Given the description of an element on the screen output the (x, y) to click on. 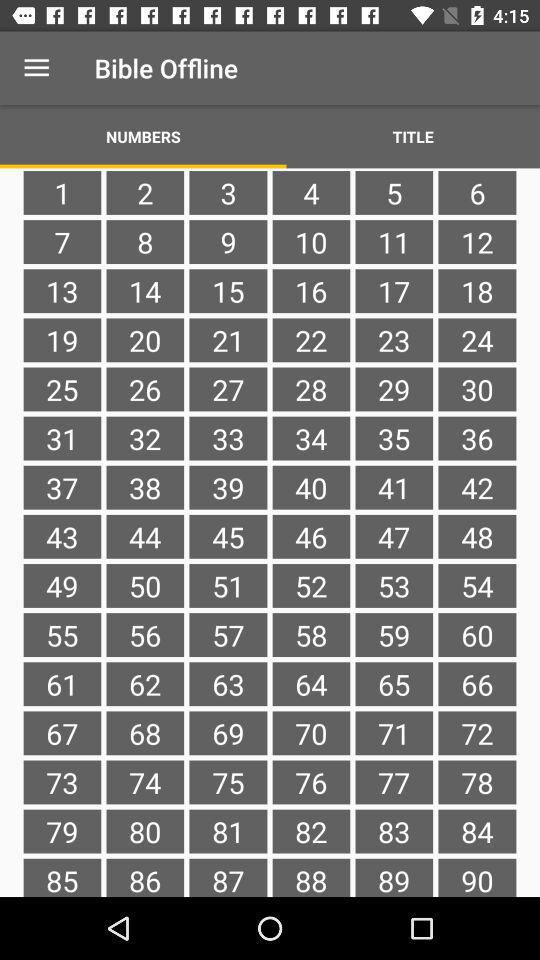
press the item next to 8 icon (228, 291)
